Given the description of an element on the screen output the (x, y) to click on. 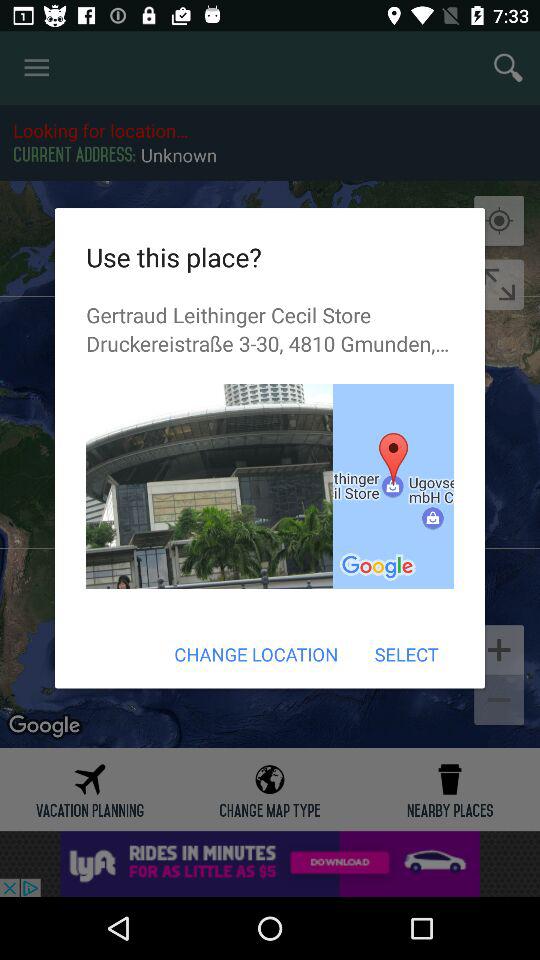
turn on the item next to select item (256, 654)
